Given the description of an element on the screen output the (x, y) to click on. 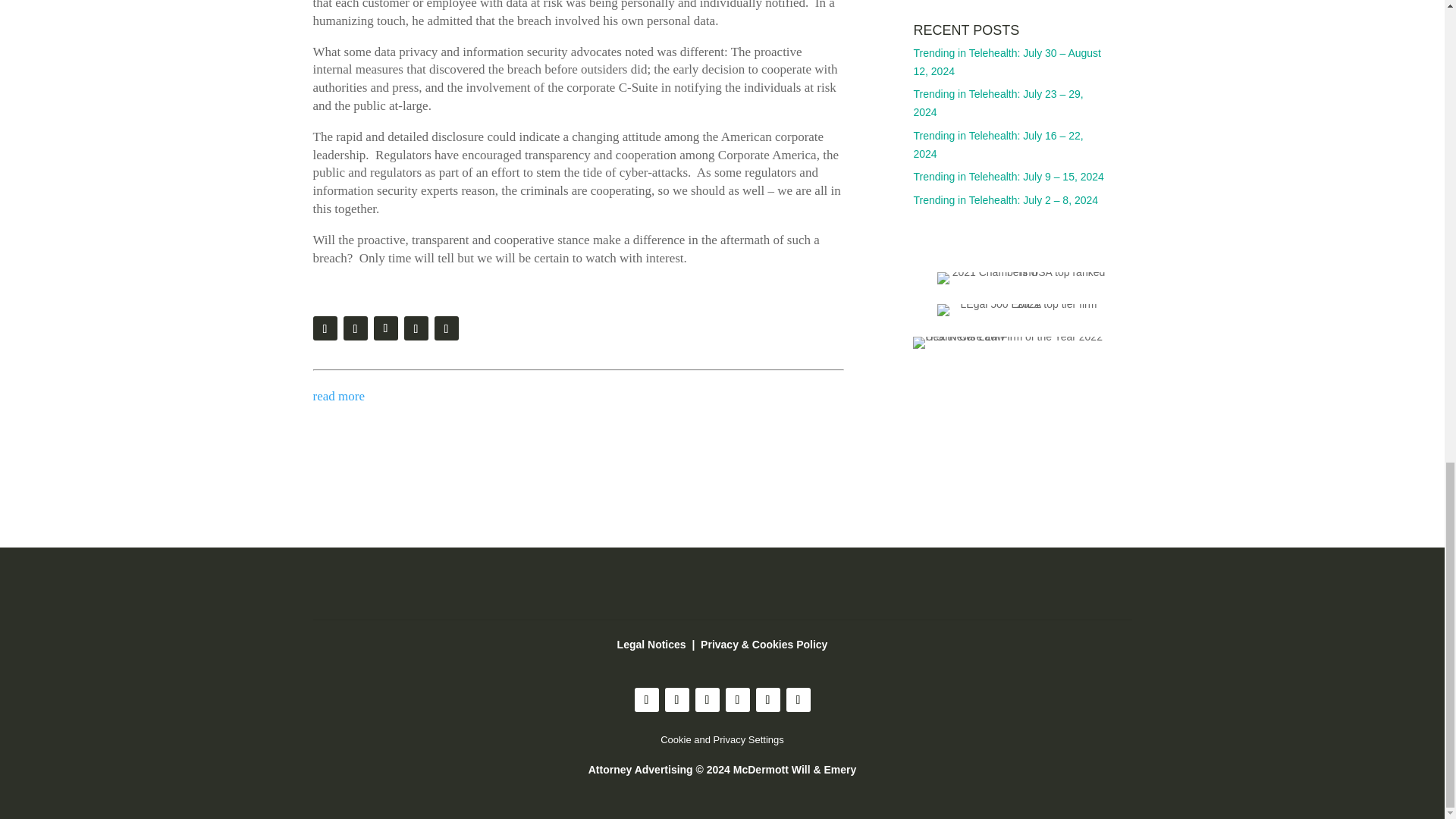
Share on LinkedIn (445, 328)
Share on X (384, 328)
Share on Facebook (415, 328)
E-Mail (354, 328)
Print (324, 328)
